Given the description of an element on the screen output the (x, y) to click on. 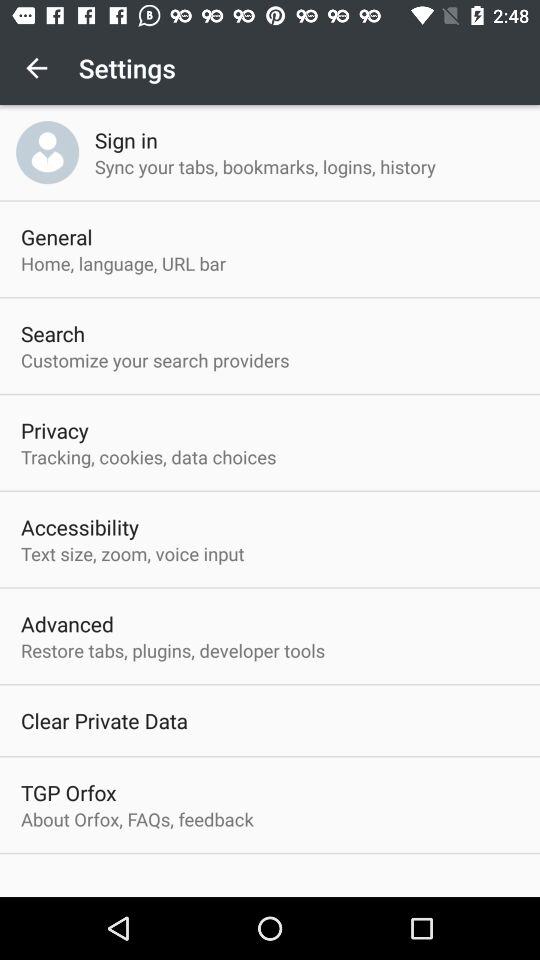
jump to sync your tabs icon (264, 166)
